Given the description of an element on the screen output the (x, y) to click on. 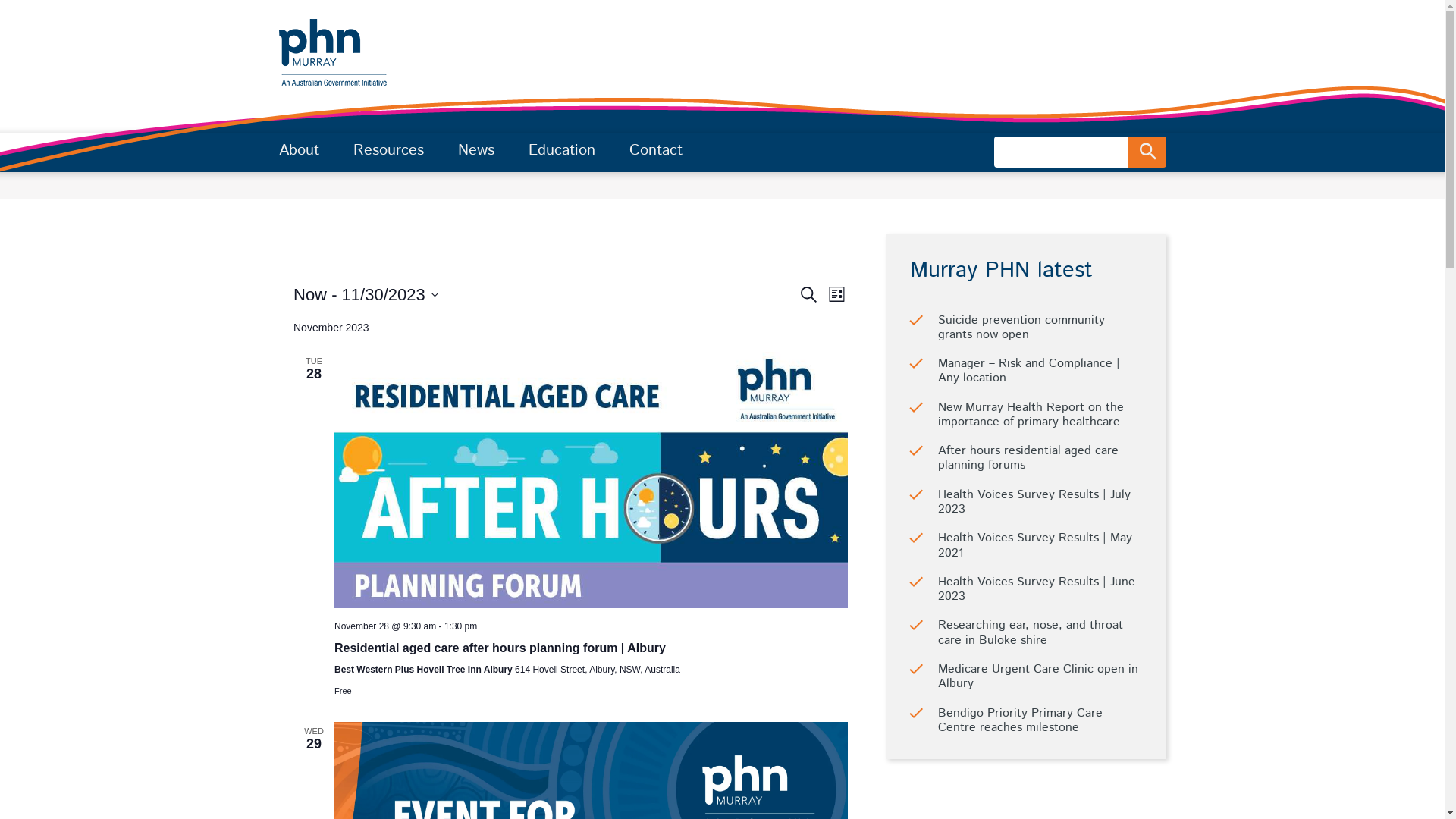
Health Voices Survey Results | May 2021 Element type: text (1034, 545)
Now
 - 
11/30/2023 Element type: text (365, 294)
List Element type: text (836, 294)
Residential aged care after hours planning forum | Albury Element type: text (499, 648)
Health Voices Survey Results | June 2023 Element type: text (1035, 589)
Suicide prevention community grants now open Element type: text (1020, 327)
Researching ear, nose, and throat care in Buloke shire Element type: text (1029, 632)
Bendigo Priority Primary Care Centre reaches milestone Element type: text (1019, 720)
Medicare Urgent Care Clinic open in Albury Element type: text (1037, 676)
Residential aged care after hours planning forum | Albury Element type: hover (590, 479)
After hours residential aged care planning forums Element type: text (1027, 457)
News Element type: text (476, 150)
Health Voices Survey Results | July 2023 Element type: text (1033, 501)
About Element type: text (299, 150)
Education Element type: text (560, 150)
Better Health, Better Care, Better Systems. Element type: hover (332, 52)
Resources Element type: text (388, 150)
Contact Element type: text (655, 150)
Search Element type: text (808, 294)
